Given the description of an element on the screen output the (x, y) to click on. 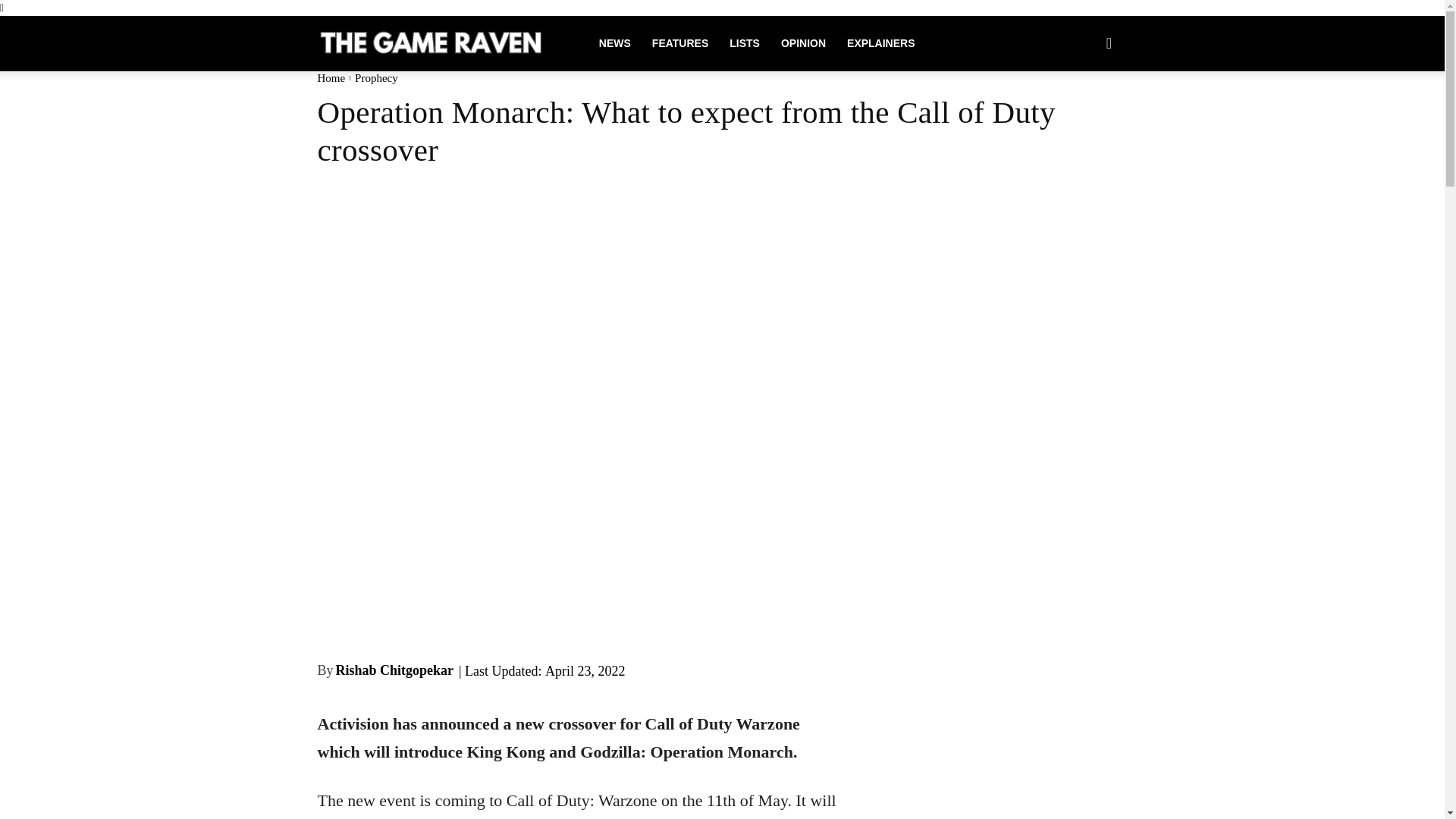
EXPLAINERS (879, 43)
OPINION (802, 43)
View all posts in Prophecy (376, 77)
FEATURES (680, 43)
Prophecy (376, 77)
Home (331, 77)
NEWS (615, 43)
LISTS (744, 43)
Rishab Chitgopekar (395, 670)
